Given the description of an element on the screen output the (x, y) to click on. 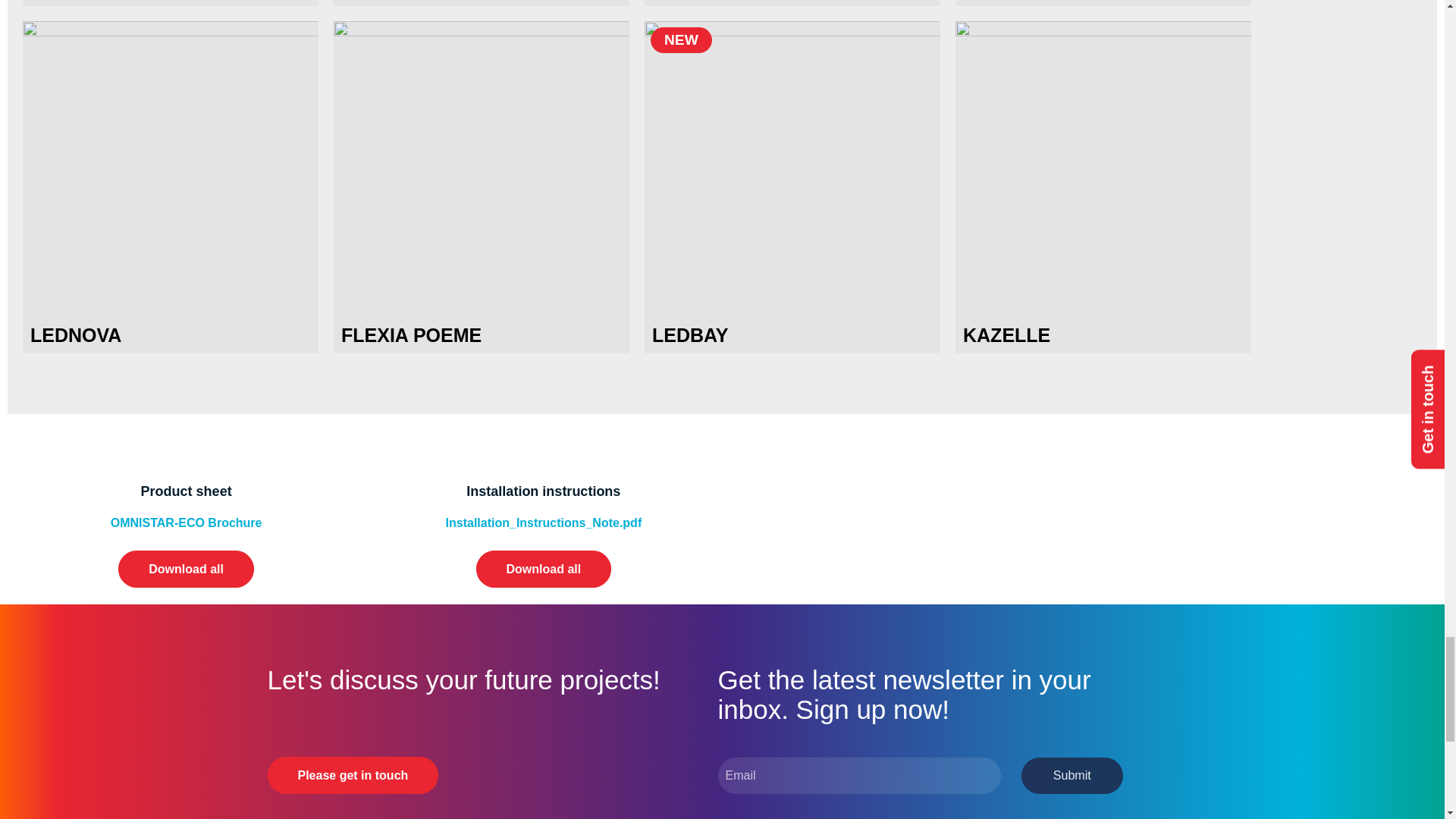
Submit (1072, 775)
